Given the description of an element on the screen output the (x, y) to click on. 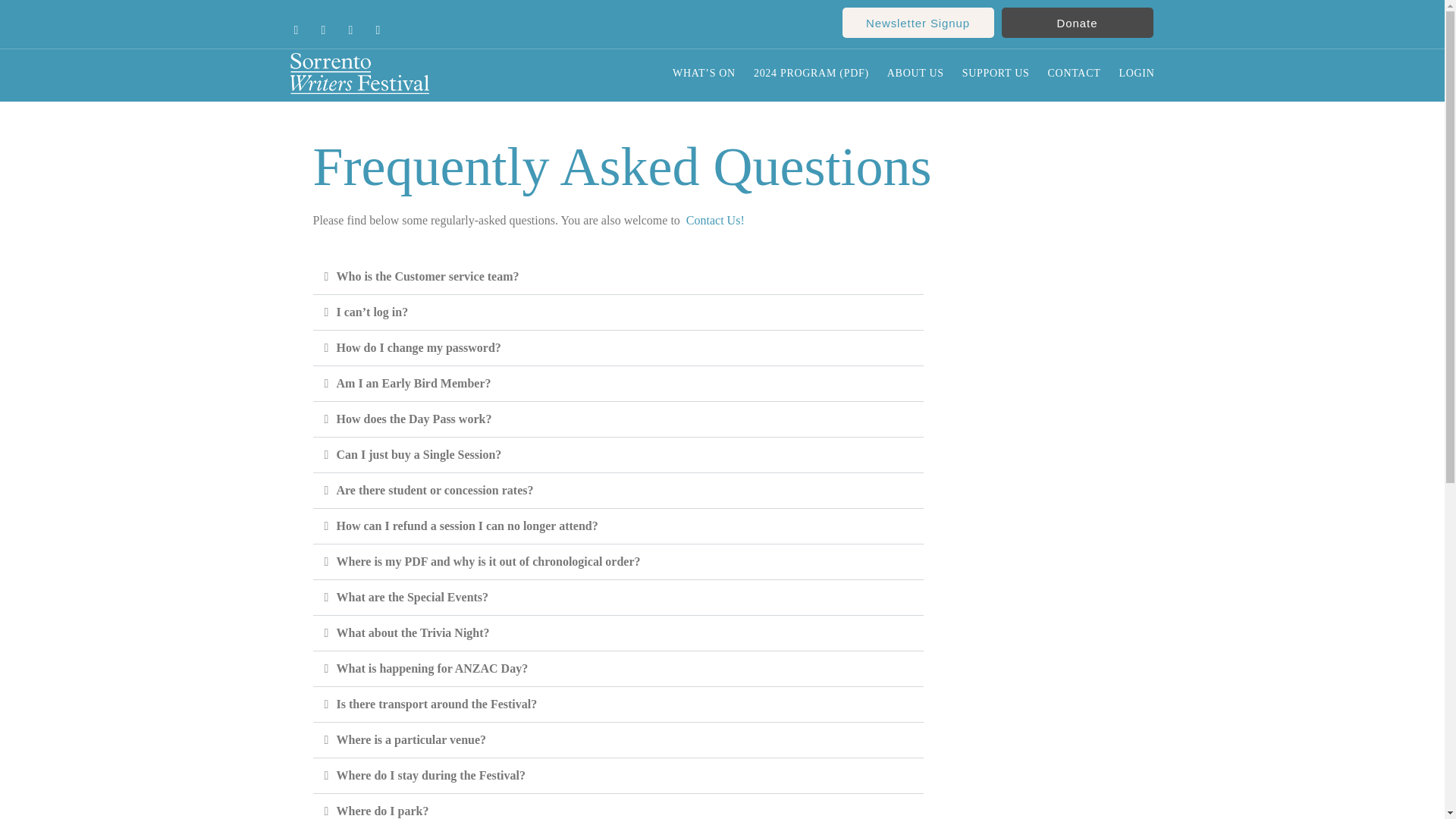
Newsletter Signup (916, 22)
LOGIN (1136, 73)
SUPPORT US (995, 73)
ABOUT US (914, 73)
CONTACT (1074, 73)
Donate (1077, 22)
